Given the description of an element on the screen output the (x, y) to click on. 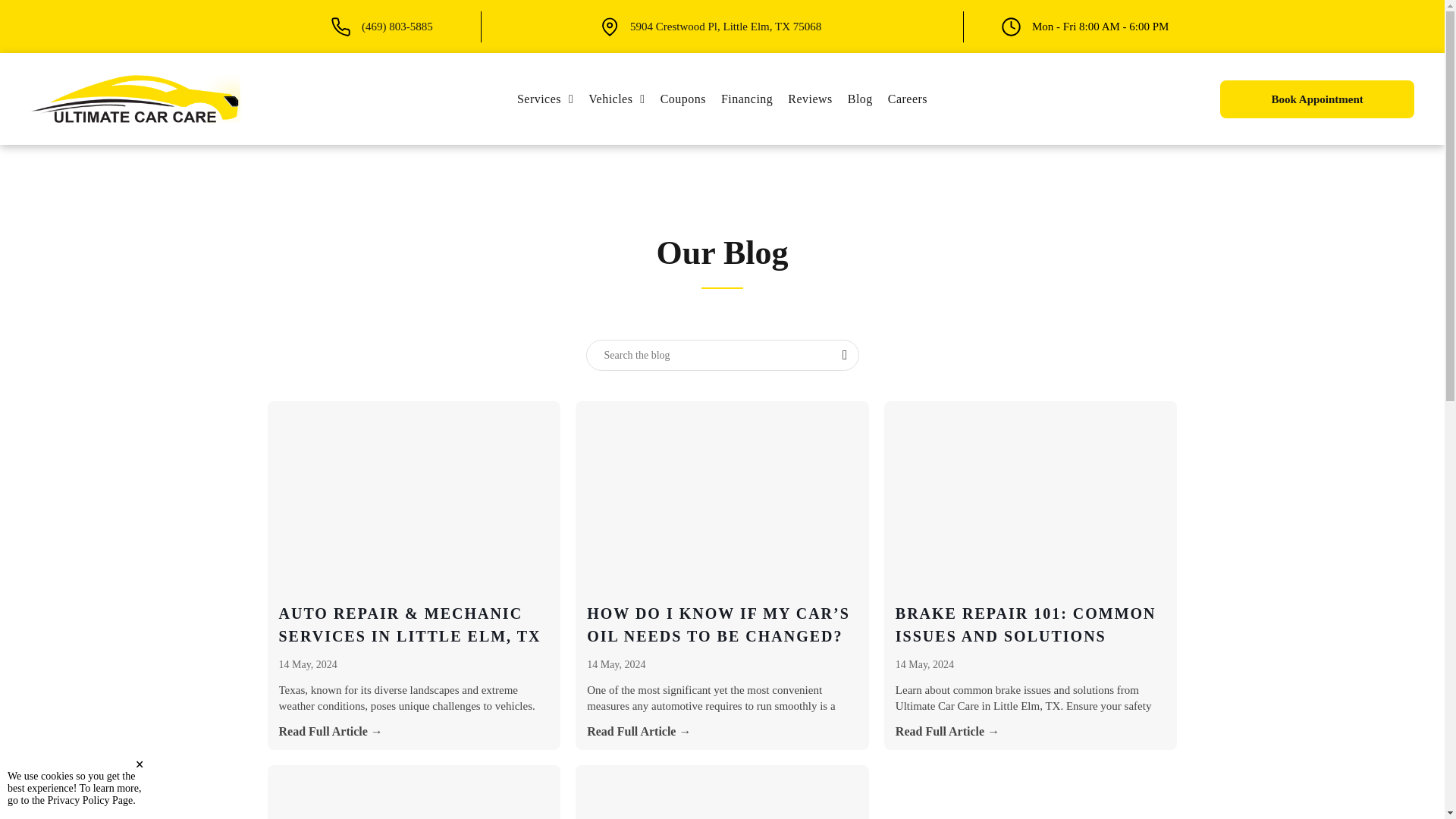
Visit Page (721, 99)
Vehicles (616, 98)
5904 Crestwood Pl, Little Elm, TX 75068 (616, 98)
5904 Crestwood Pl, Little Elm, TX 75068 (725, 26)
Services (725, 26)
